Given the description of an element on the screen output the (x, y) to click on. 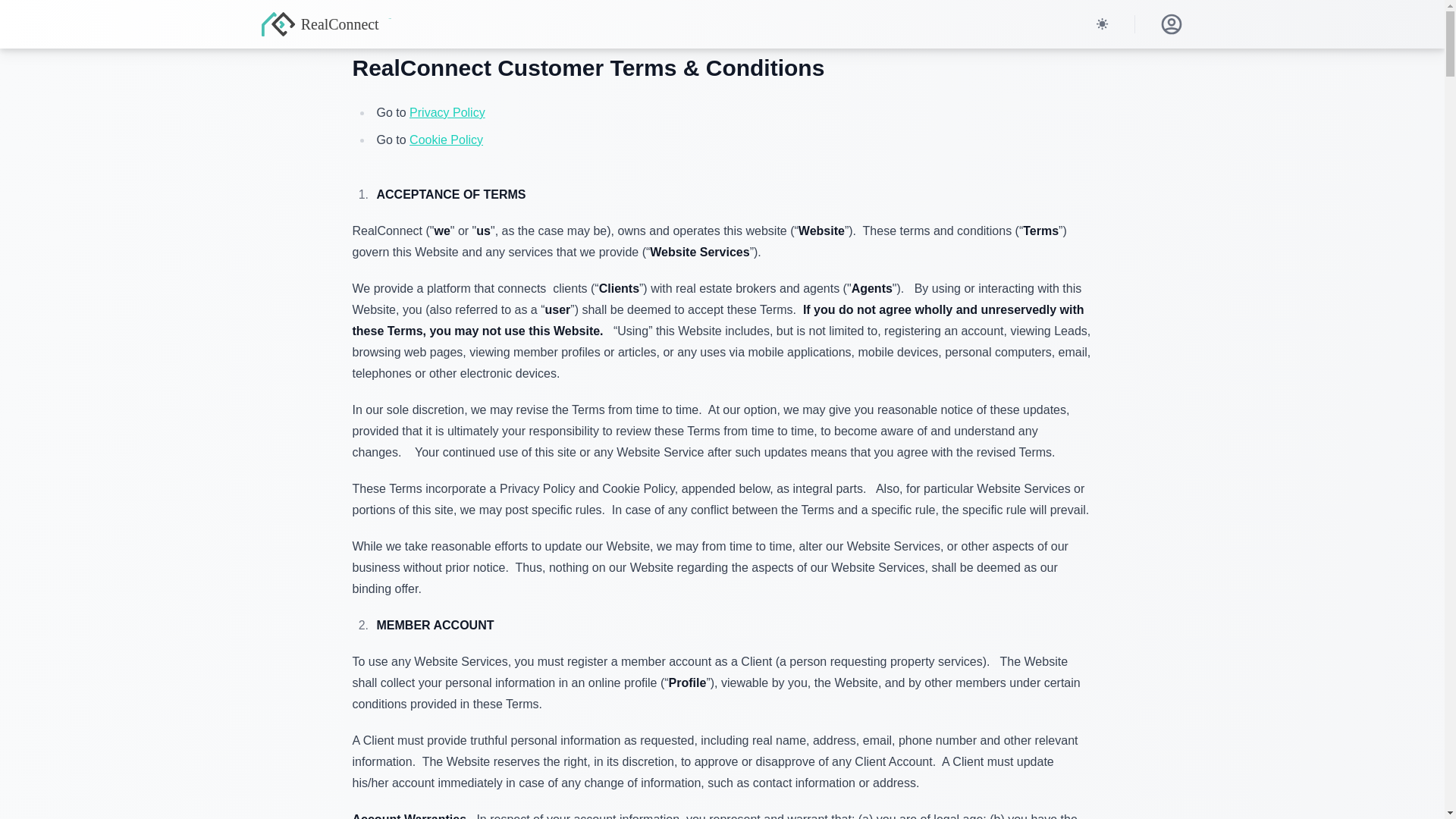
PRIVACY POLICY (446, 112)
Cookie Policy (446, 139)
Cookie Policy (446, 139)
Privacy Policy (446, 112)
Log In (1170, 24)
